Given the description of an element on the screen output the (x, y) to click on. 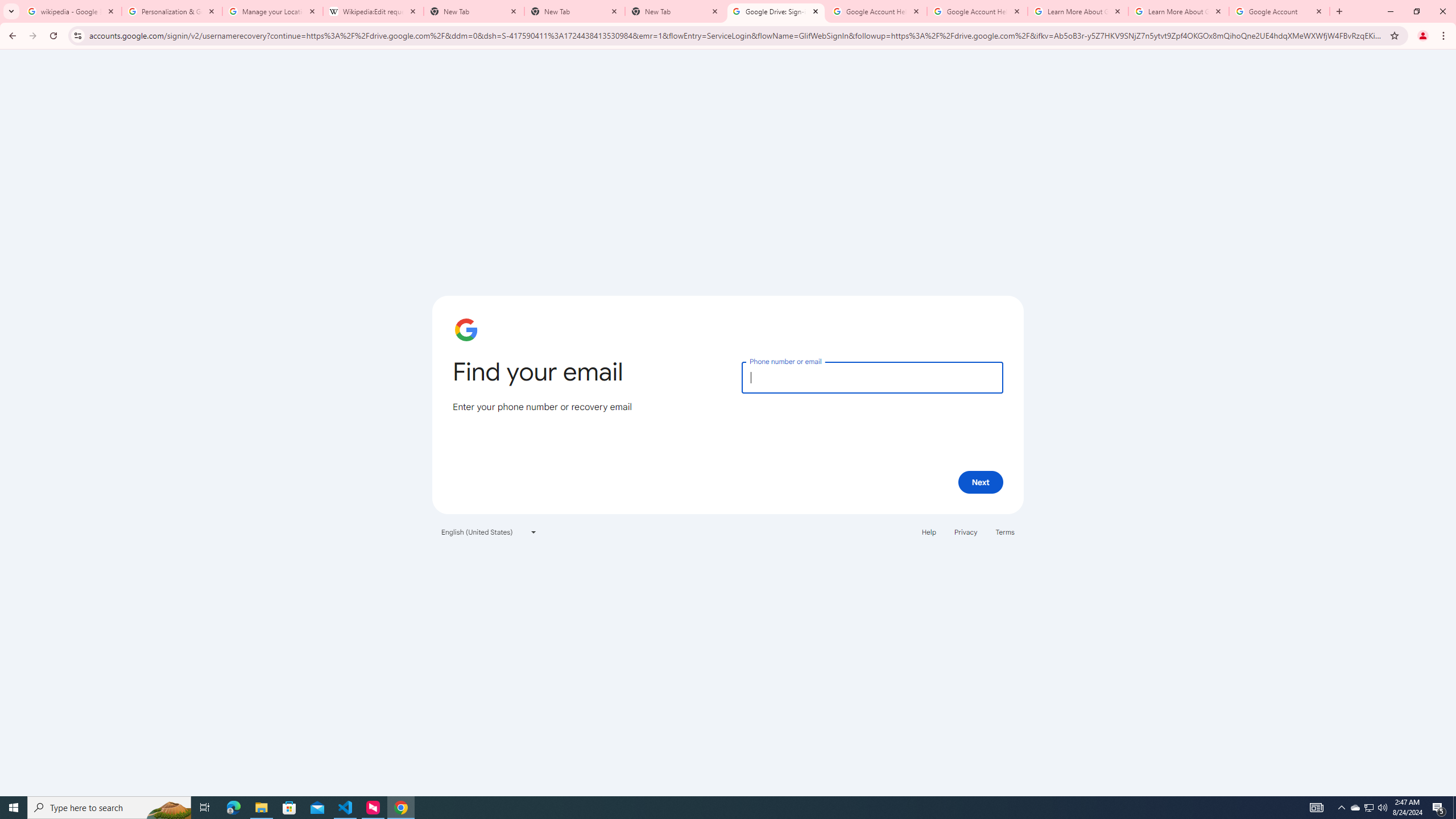
New Tab (574, 11)
Manage your Location History - Google Search Help (271, 11)
New Tab (675, 11)
Personalization & Google Search results - Google Search Help (171, 11)
Google Account (1279, 11)
